Given the description of an element on the screen output the (x, y) to click on. 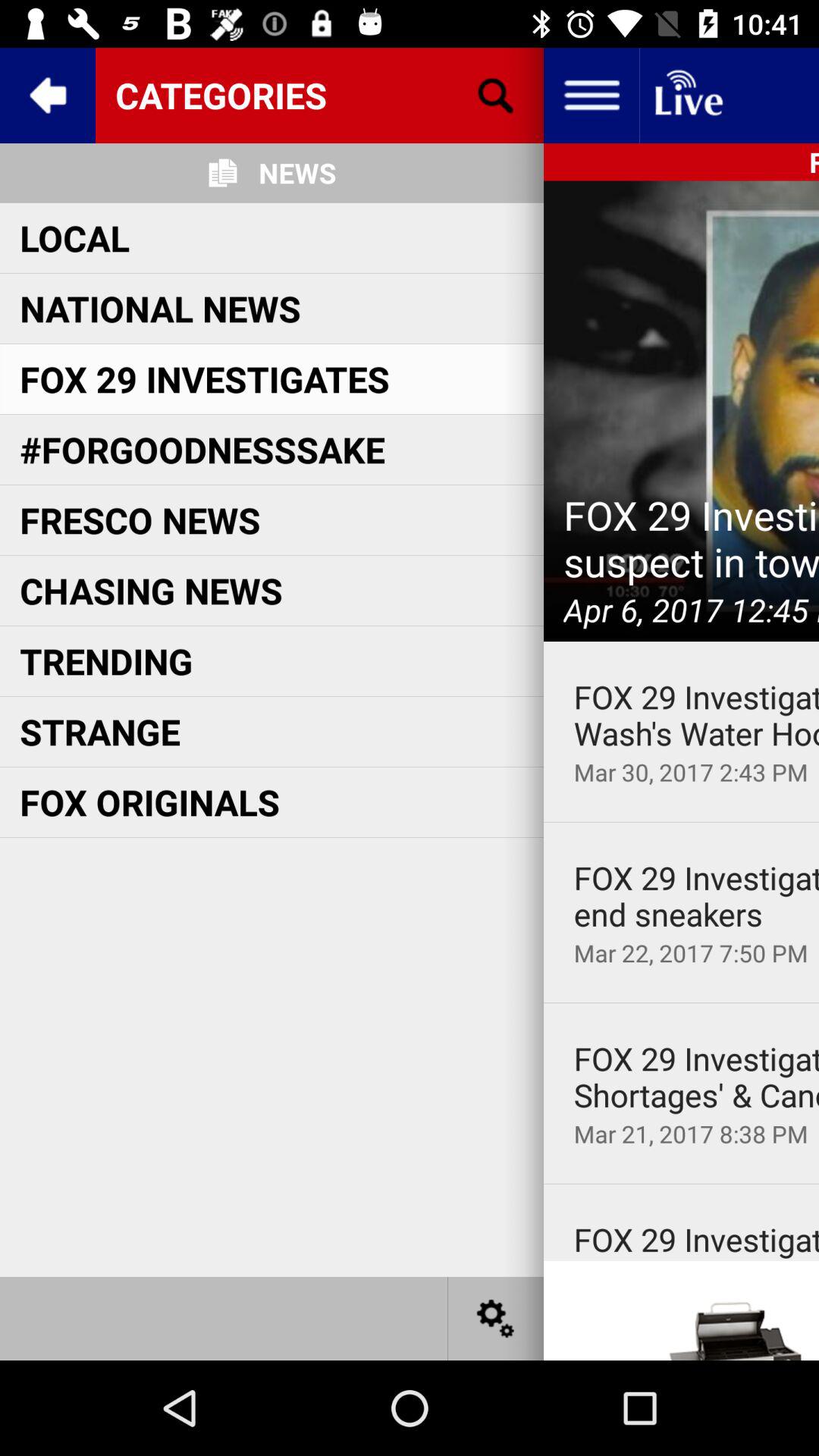
click on the settings icon (495, 1317)
click on the button which is left side of the live (591, 95)
